Given the description of an element on the screen output the (x, y) to click on. 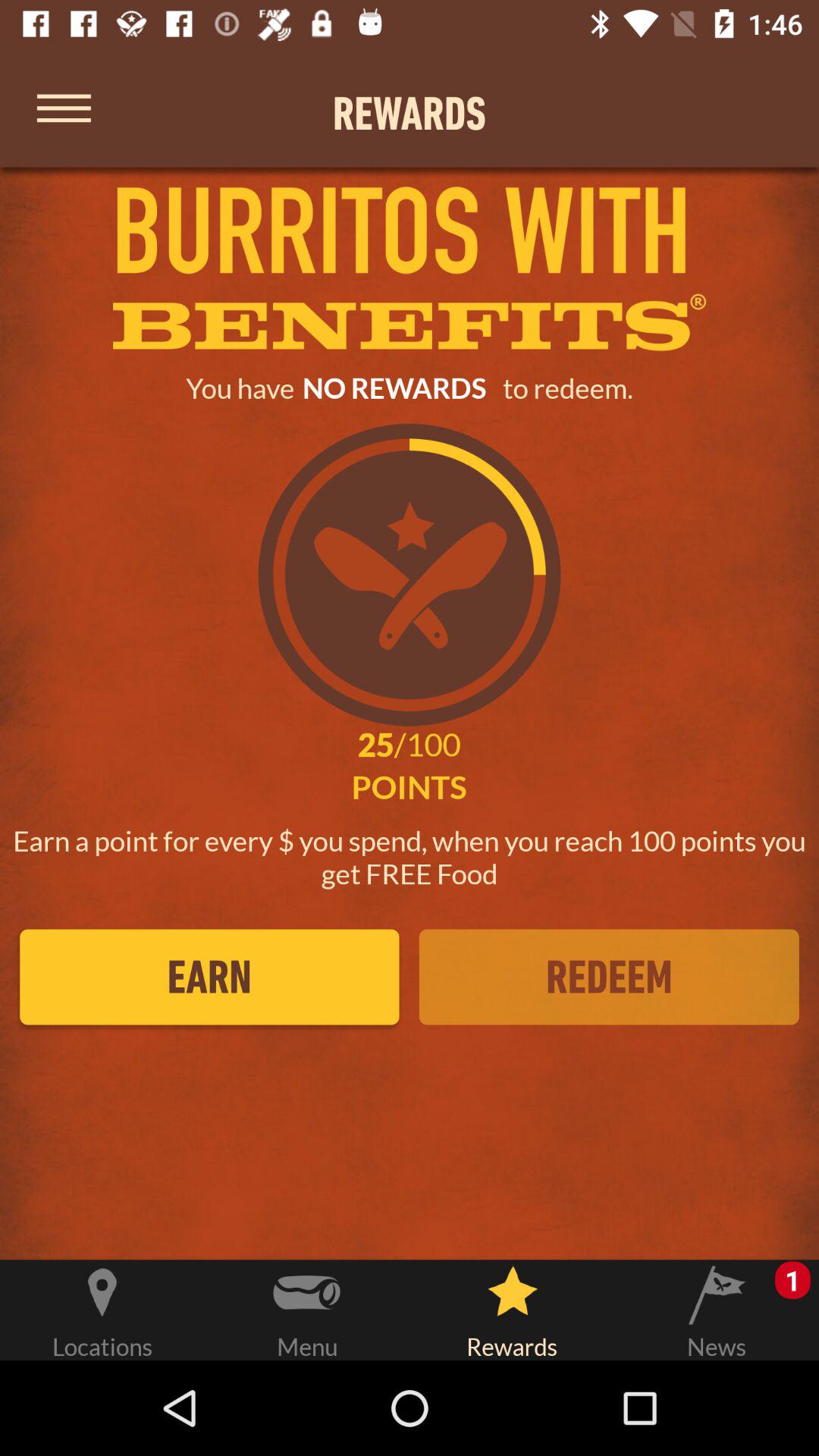
menu options (63, 113)
